Given the description of an element on the screen output the (x, y) to click on. 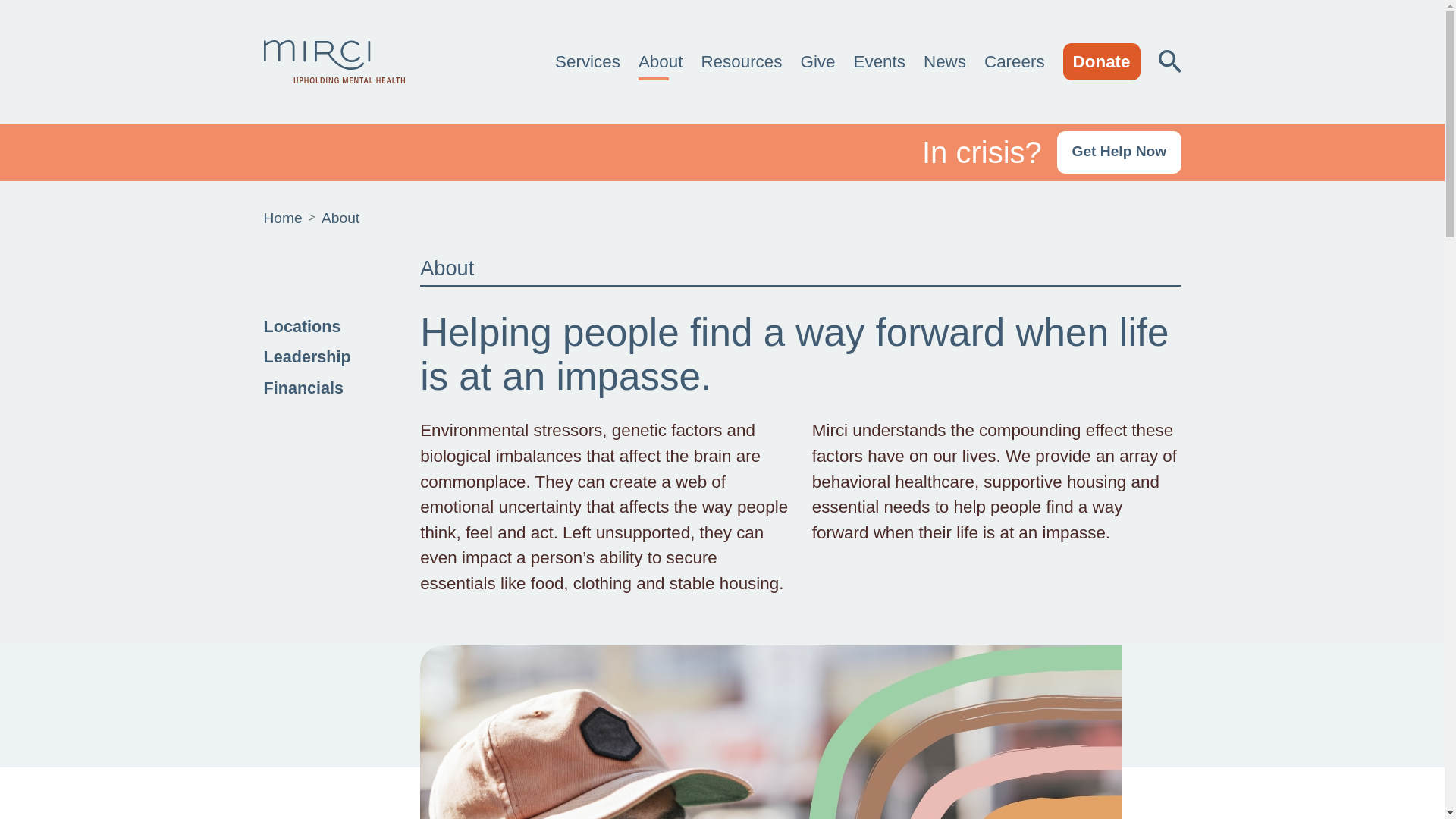
Home (282, 217)
Donate (1101, 62)
Get Help Now (1118, 152)
Give (820, 62)
Resources (743, 62)
Services (590, 62)
Financials (327, 388)
About (663, 62)
Locations (327, 326)
Events (882, 62)
